Given the description of an element on the screen output the (x, y) to click on. 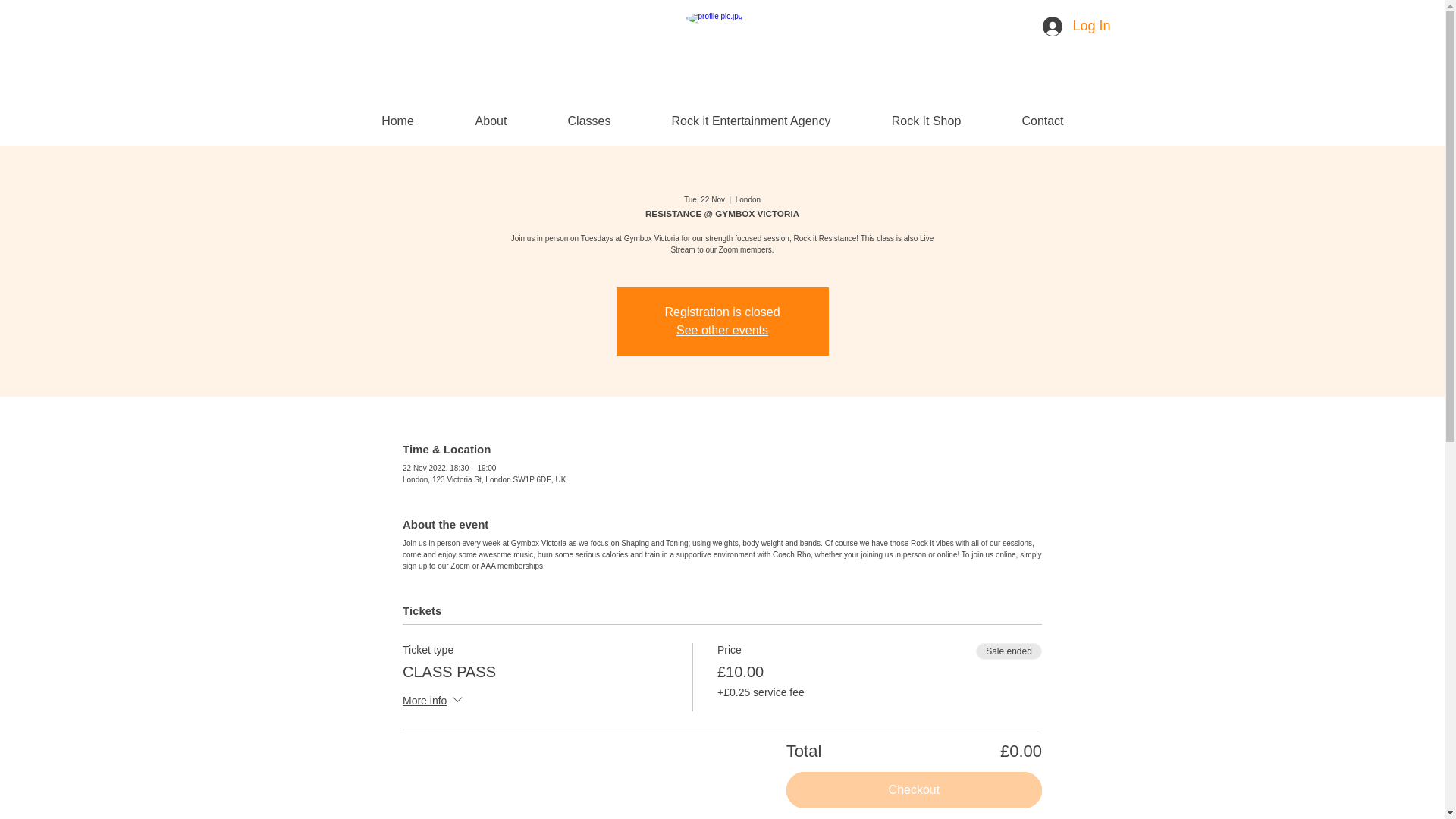
Home (397, 120)
About (491, 120)
See other events (722, 329)
Classes (591, 120)
Log In (1061, 26)
Rock It Shop (926, 120)
More info (434, 701)
Rock it Entertainment Agency (752, 120)
Checkout (914, 790)
Contact (1042, 120)
